Given the description of an element on the screen output the (x, y) to click on. 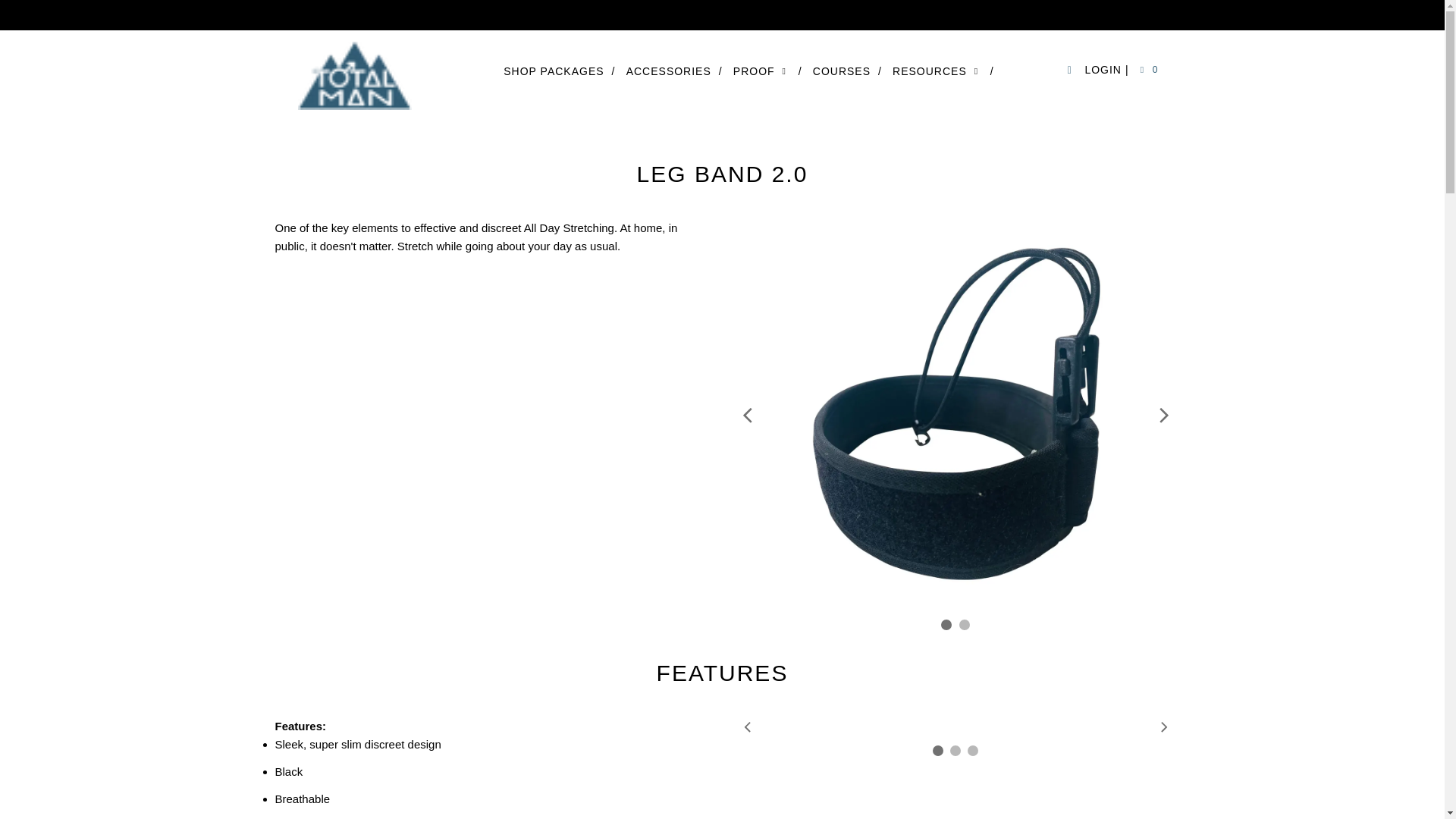
SHOP PACKAGES (558, 71)
RESOURCES (943, 71)
COURSES (847, 71)
TMC Pty Ltd (360, 75)
PROOF (767, 71)
ACCESSORIES (674, 71)
